Given the description of an element on the screen output the (x, y) to click on. 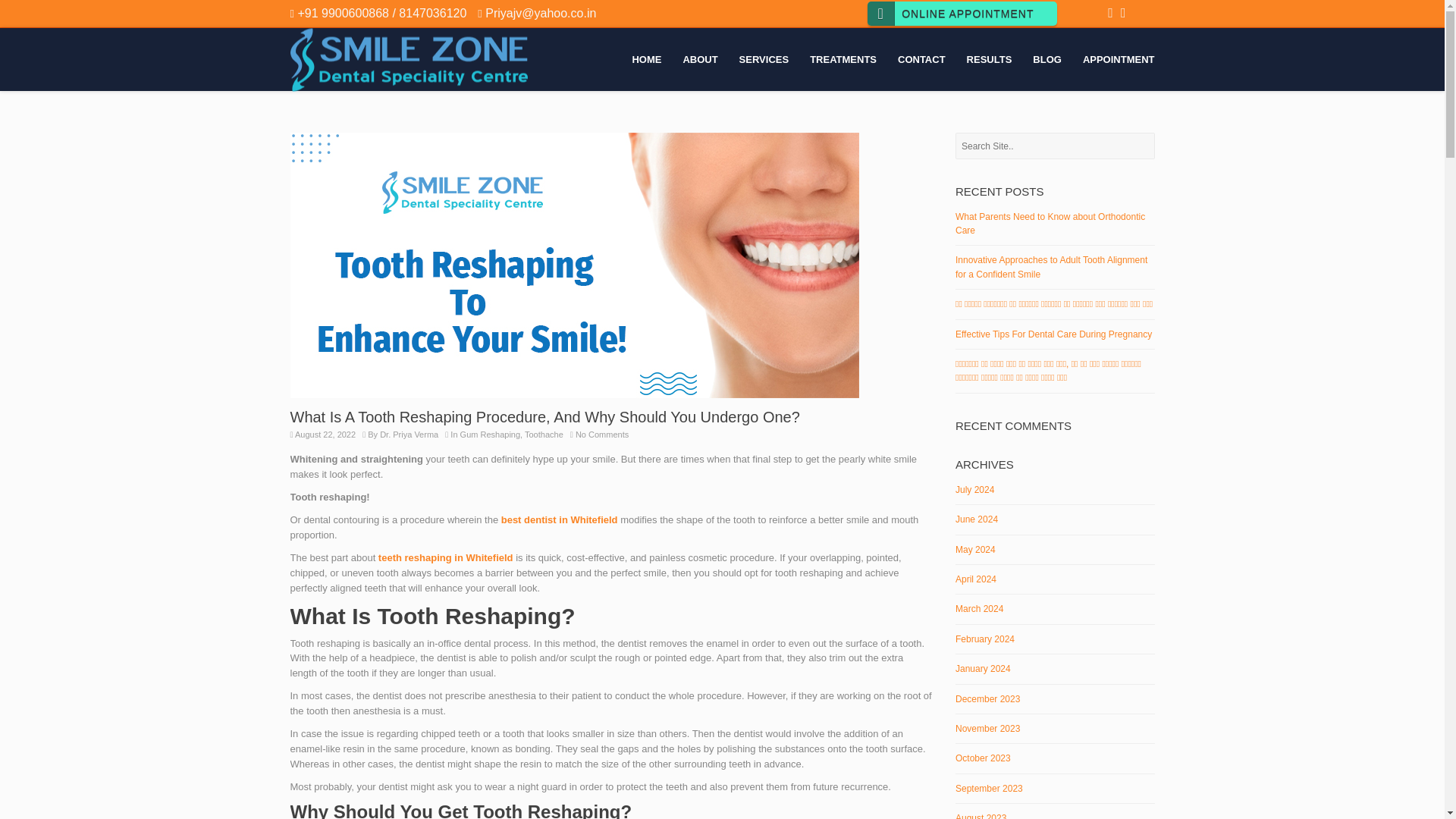
ONLINE APPOINTMENT (962, 13)
SERVICES (764, 58)
ABOUT (699, 58)
Posts by Dr. Priya Verma (409, 433)
TREATMENTS (842, 58)
